Given the description of an element on the screen output the (x, y) to click on. 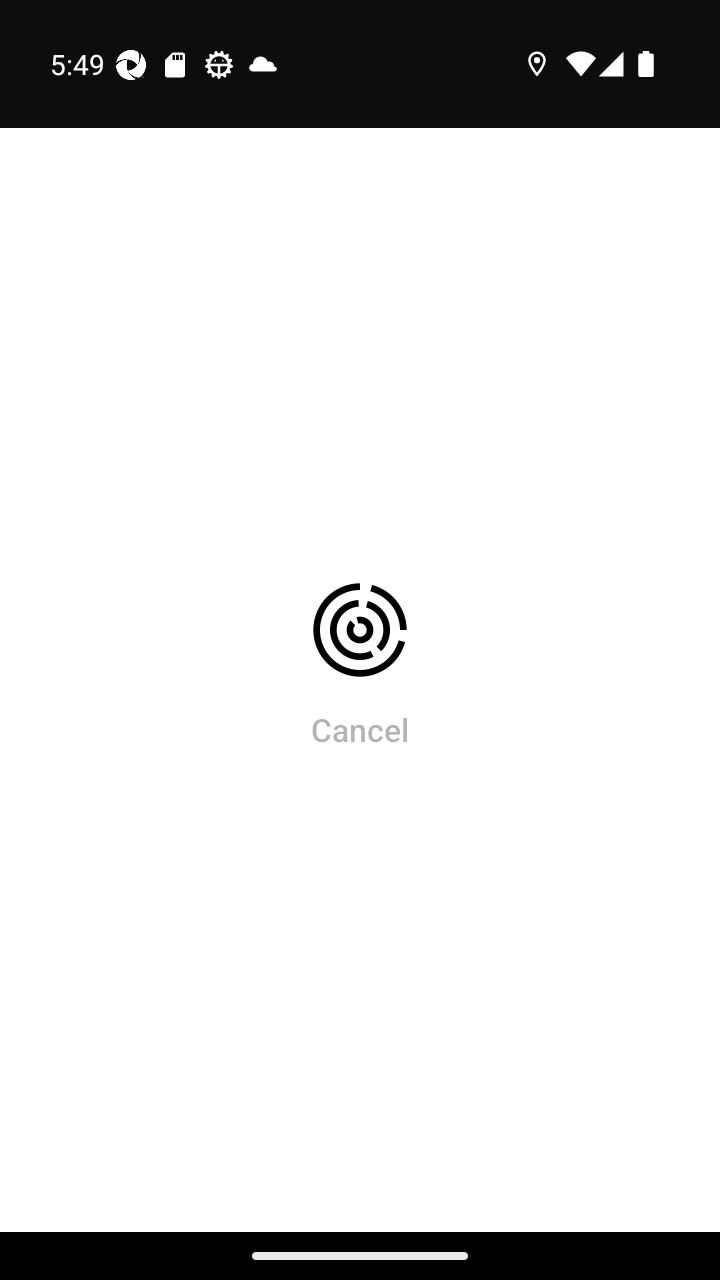
Cancel (360, 729)
